Given the description of an element on the screen output the (x, y) to click on. 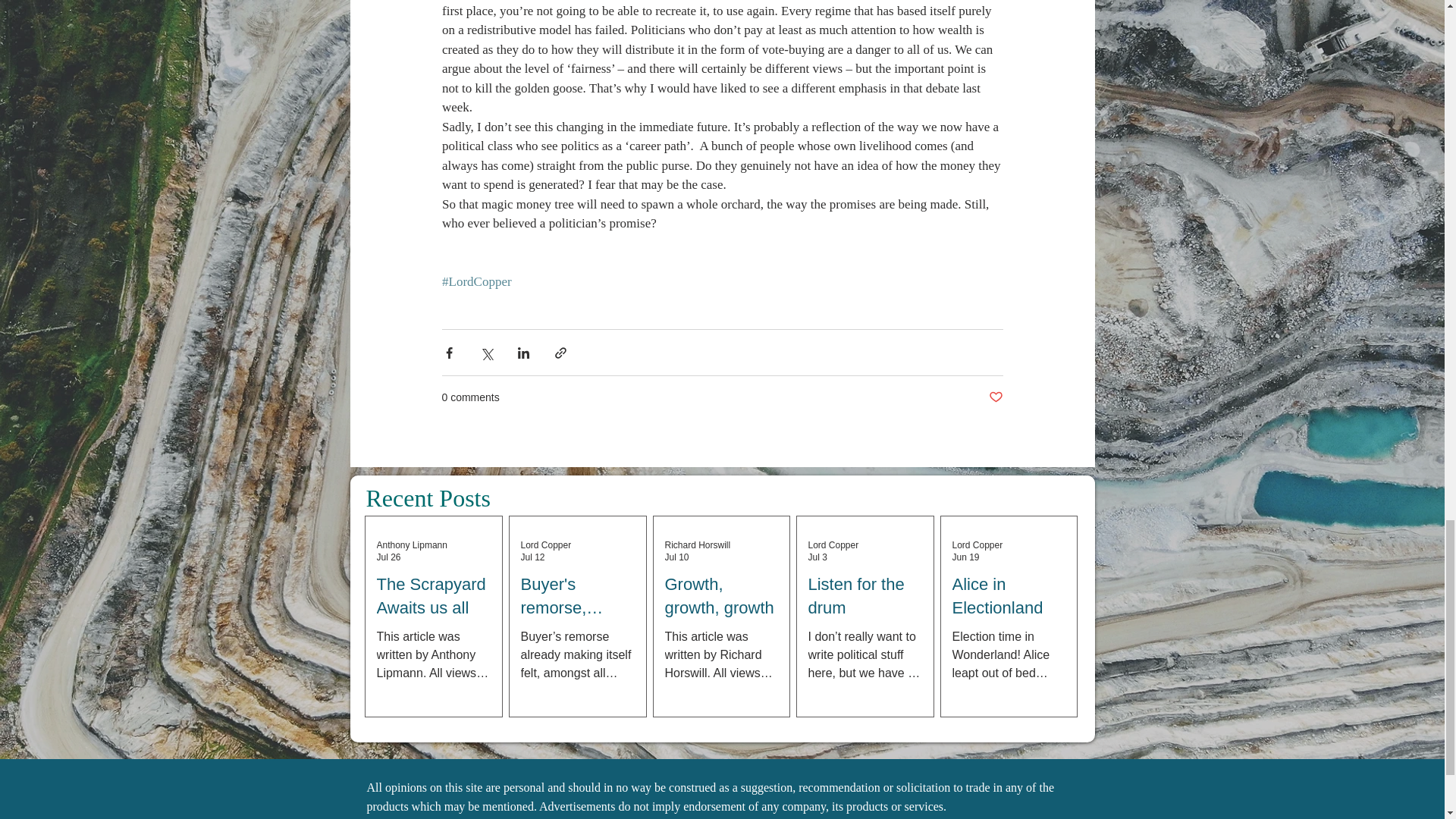
Anthony Lipmann (410, 544)
Growth, growth, growth (720, 596)
Alice in Electionland (1008, 596)
Jul 10 (675, 557)
The Scrapyard Awaits us all (432, 596)
Richard Horswill (696, 544)
Lord Copper (833, 544)
Lord Copper (977, 544)
Jul 3 (817, 557)
Jul 12 (531, 557)
